Given the description of an element on the screen output the (x, y) to click on. 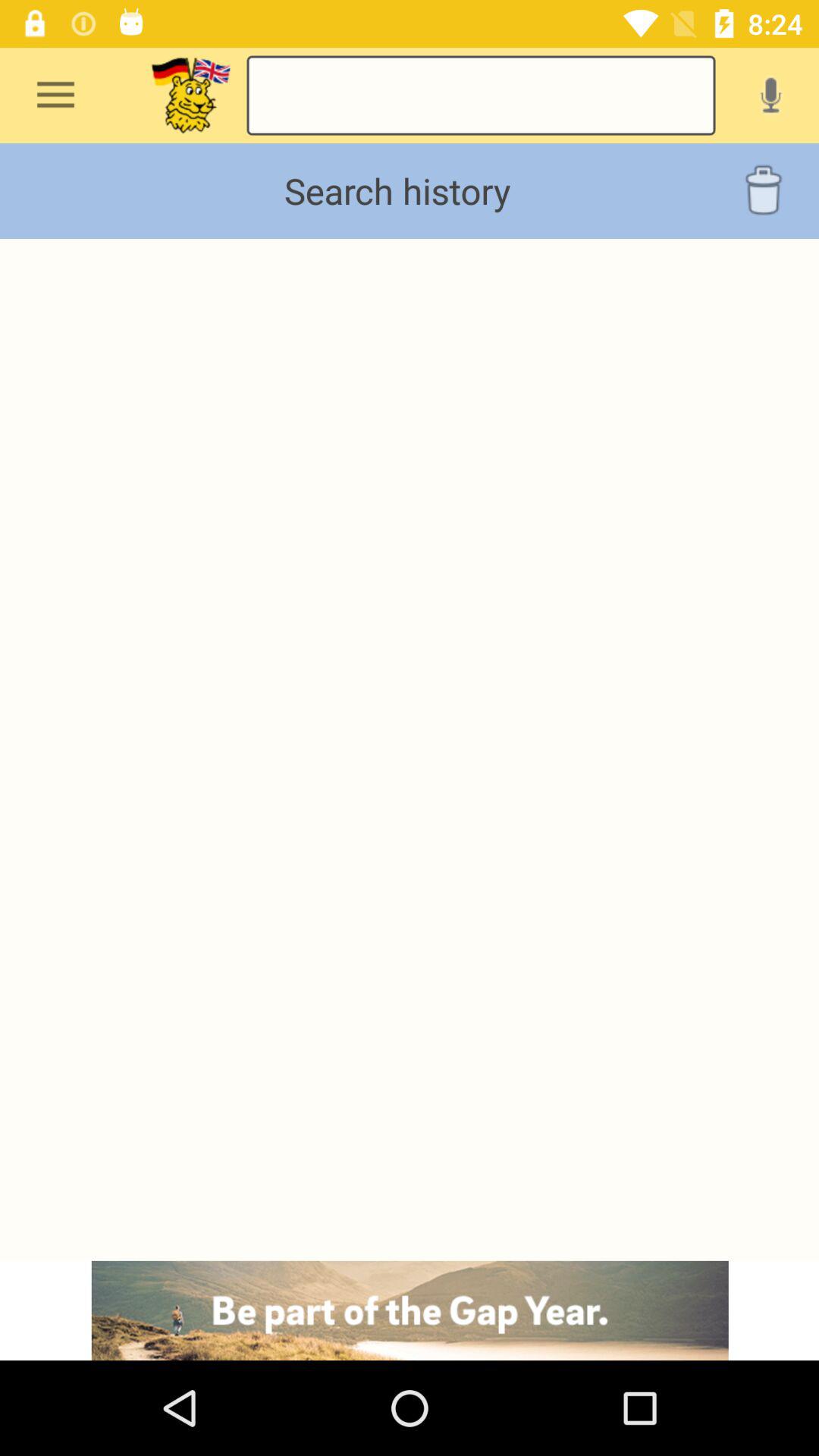
toggle delete option (763, 190)
